Given the description of an element on the screen output the (x, y) to click on. 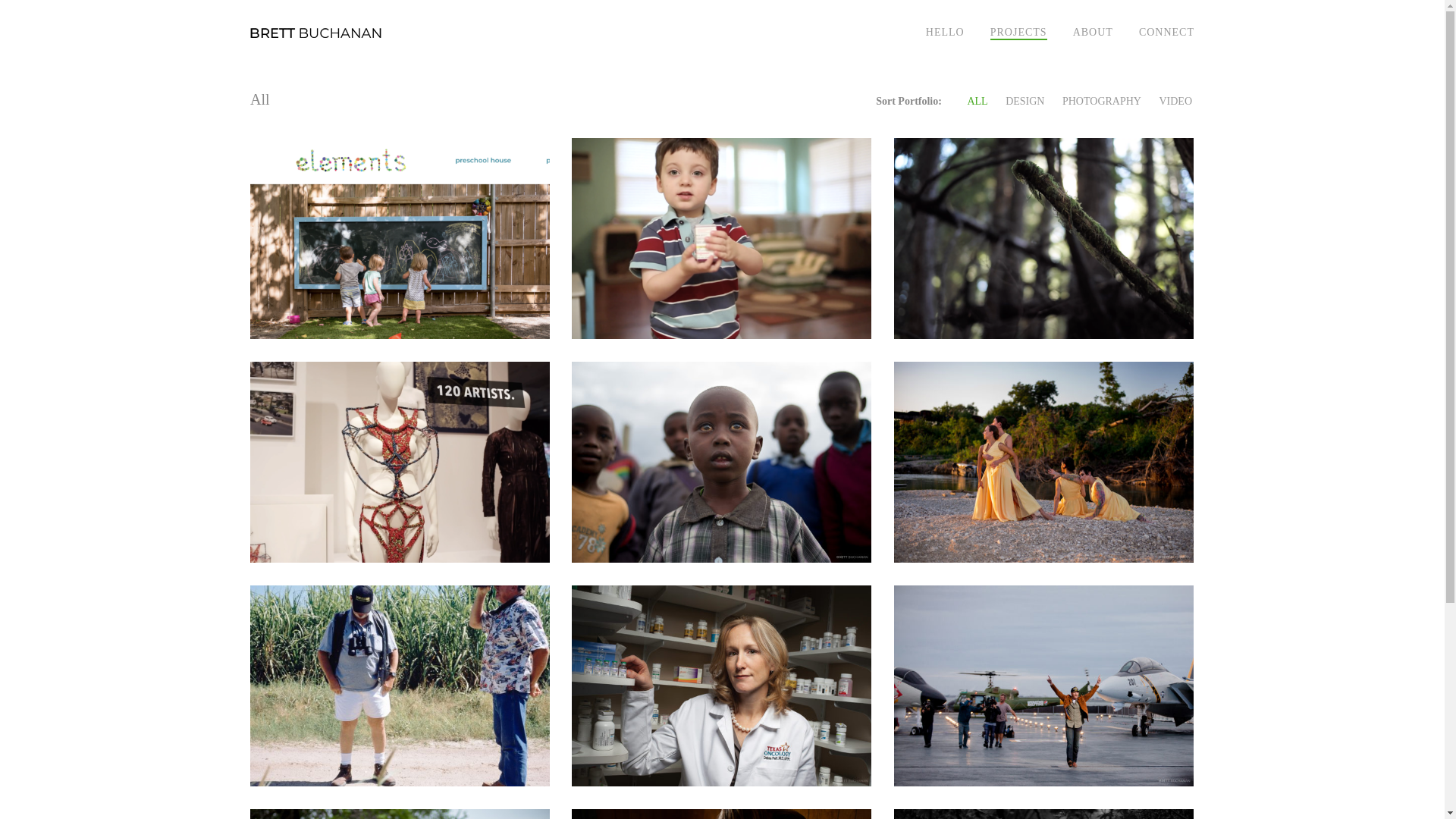
PROJECTS (1018, 32)
VIDEO (1175, 101)
HELLO (944, 32)
ABOUT (1093, 32)
CONNECT (1165, 32)
DESIGN (1024, 101)
PHOTOGRAPHY (1101, 101)
ALL (976, 101)
